Given the description of an element on the screen output the (x, y) to click on. 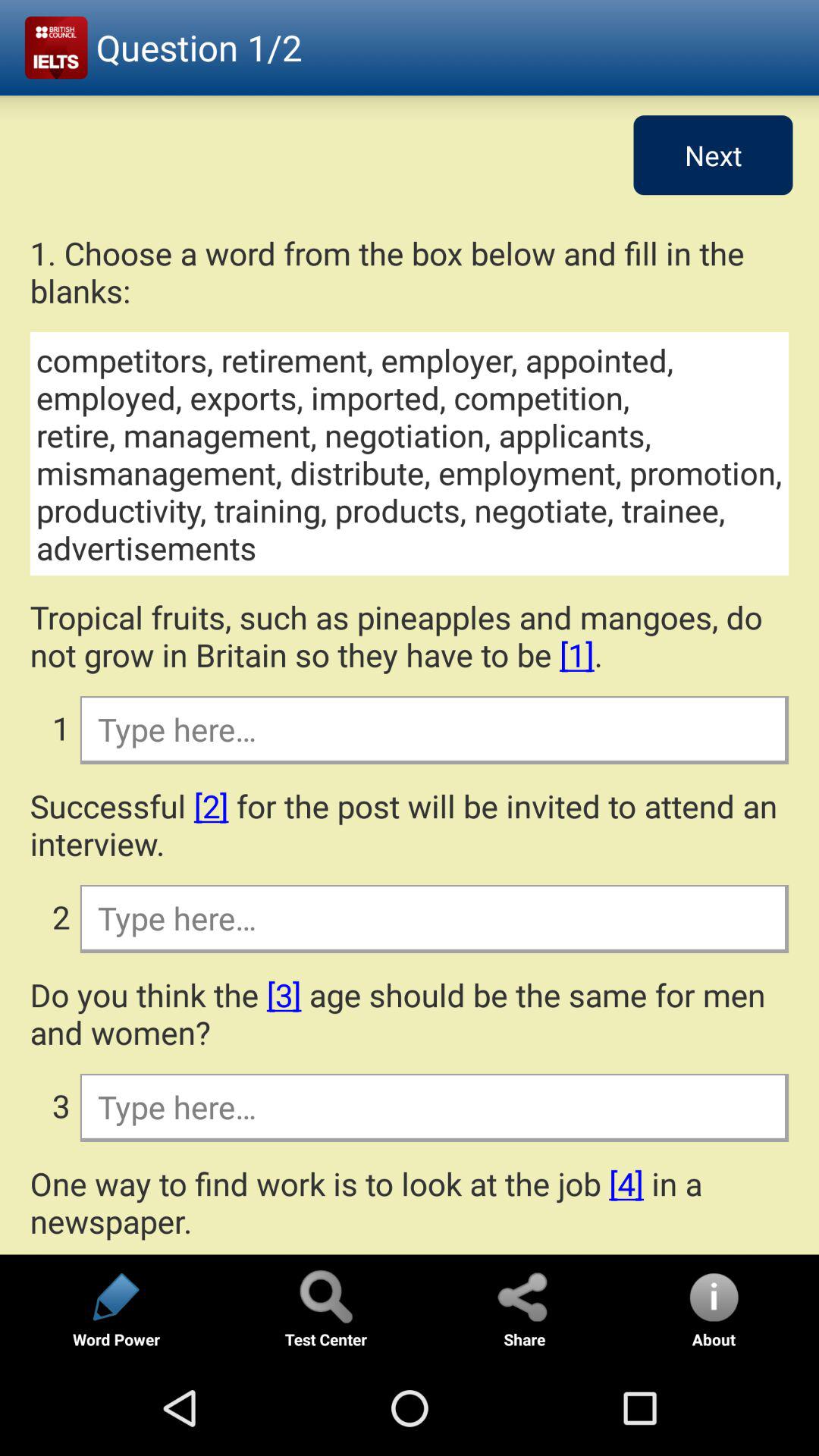
word entry field (432, 1106)
